Given the description of an element on the screen output the (x, y) to click on. 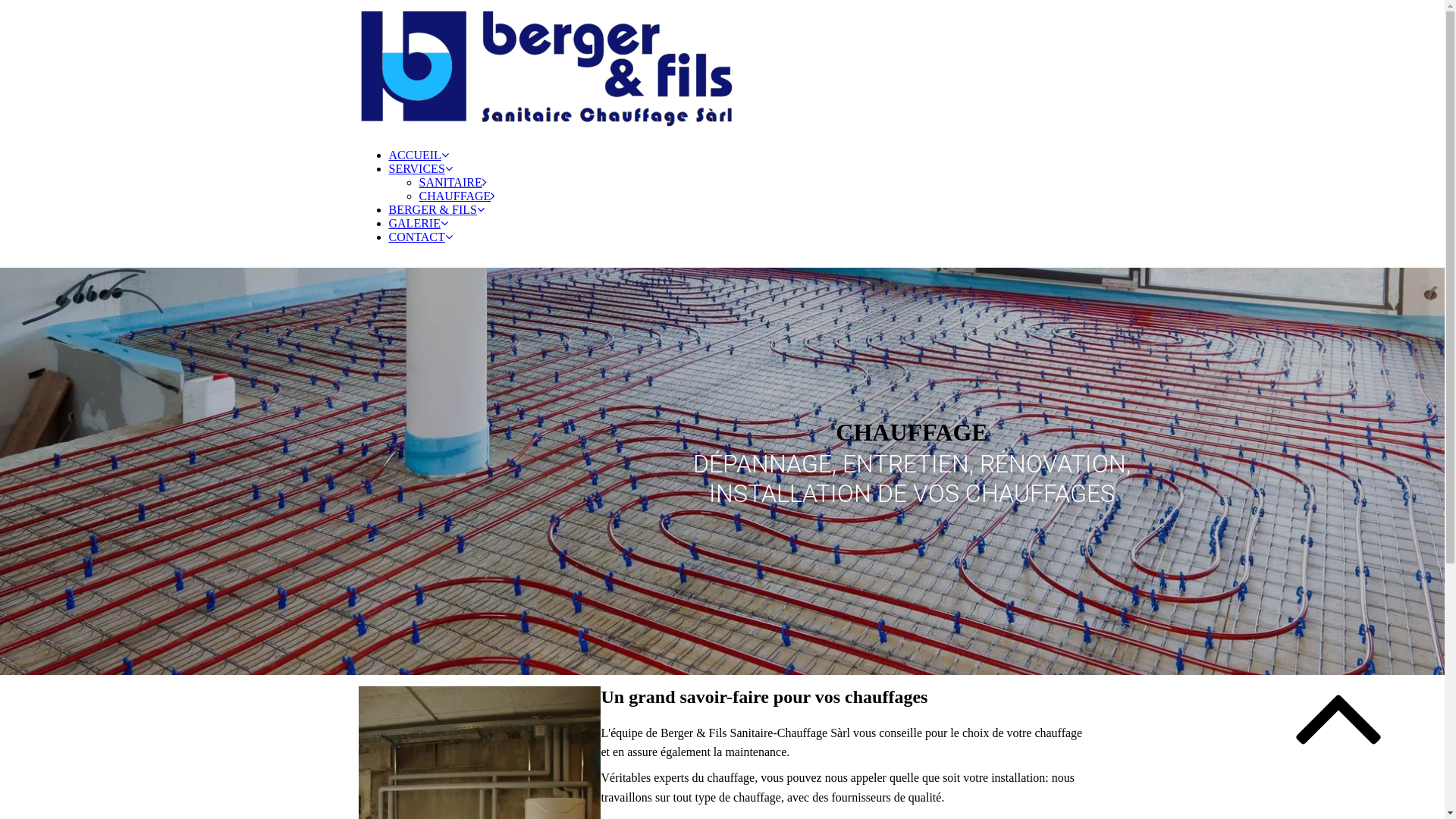
BERGER & FILS Element type: text (435, 209)
SANITAIRE Element type: text (452, 181)
GALERIE Element type: text (417, 222)
CONTACT Element type: text (419, 236)
SERVICES Element type: text (419, 168)
CHAUFFAGE Element type: text (456, 195)
ACCUEIL Element type: text (418, 154)
